Given the description of an element on the screen output the (x, y) to click on. 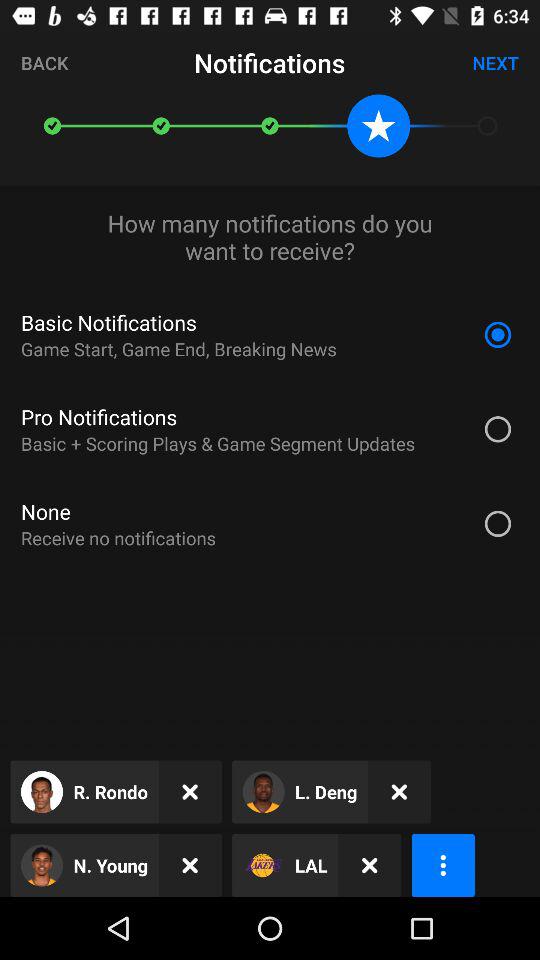
view options (442, 865)
